Given the description of an element on the screen output the (x, y) to click on. 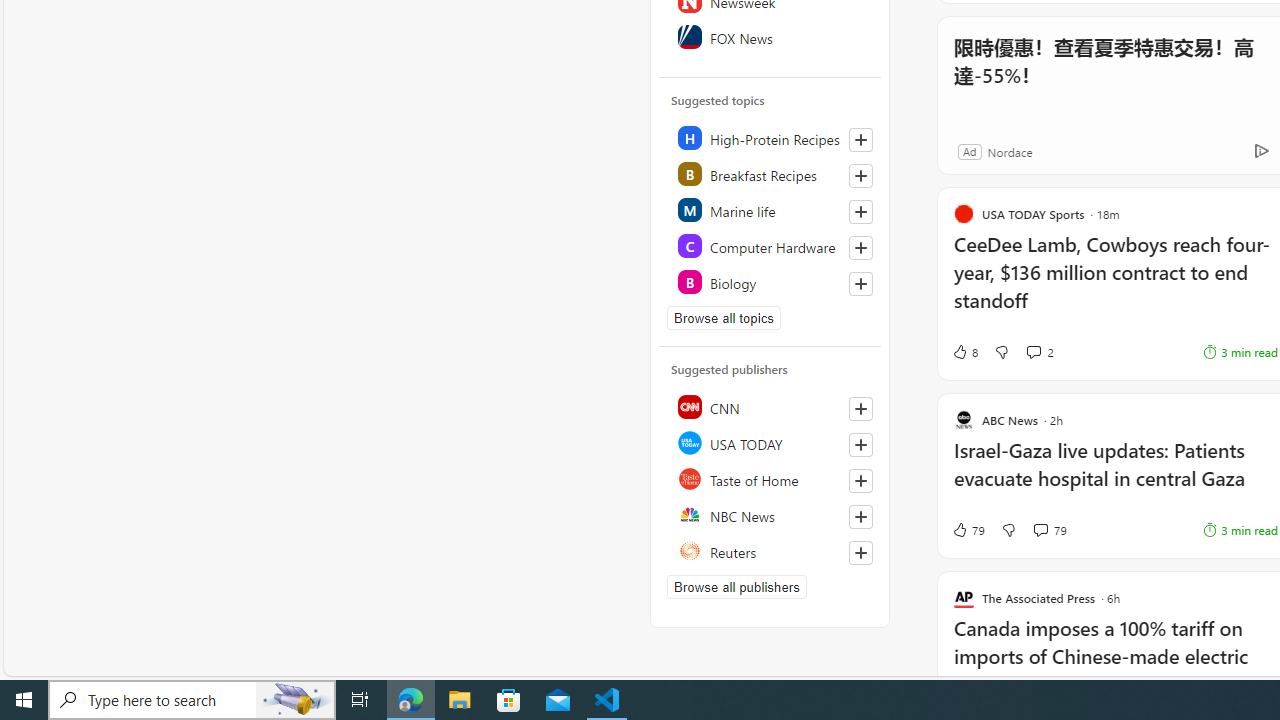
Browse all publishers (736, 587)
Browse all topics (724, 317)
Follow this topic (860, 283)
Nordace (1009, 151)
Reuters (771, 550)
View comments 2 Comment (1039, 351)
View comments 79 Comment (1049, 529)
Class: highlight (771, 281)
FOX News (771, 36)
8 Like (964, 351)
Taste of Home (771, 478)
Follow this topic (860, 283)
